Given the description of an element on the screen output the (x, y) to click on. 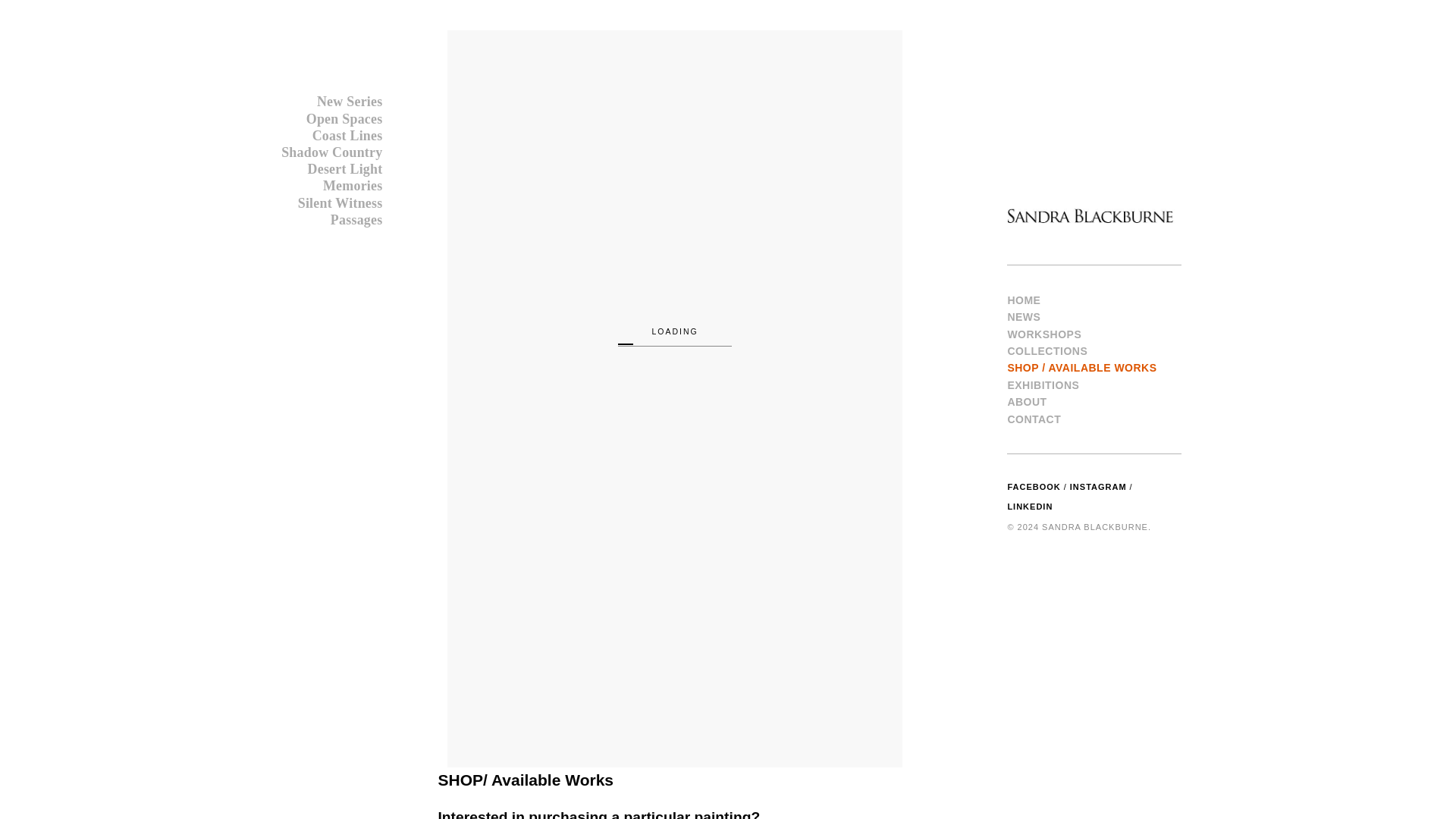
WORKSHOPS (1044, 334)
LINKEDIN (1029, 506)
CONTACT (1034, 419)
Memories (352, 185)
HOME (1024, 300)
Passages (356, 219)
ABOUT (1026, 401)
EXHIBITIONS (1042, 385)
COLLECTIONS (1047, 350)
Silent Witness (340, 202)
New Series (349, 101)
Desert Light (344, 168)
Shadow Country (331, 151)
INSTAGRAM (1098, 486)
FACEBOOK (1033, 486)
